Given the description of an element on the screen output the (x, y) to click on. 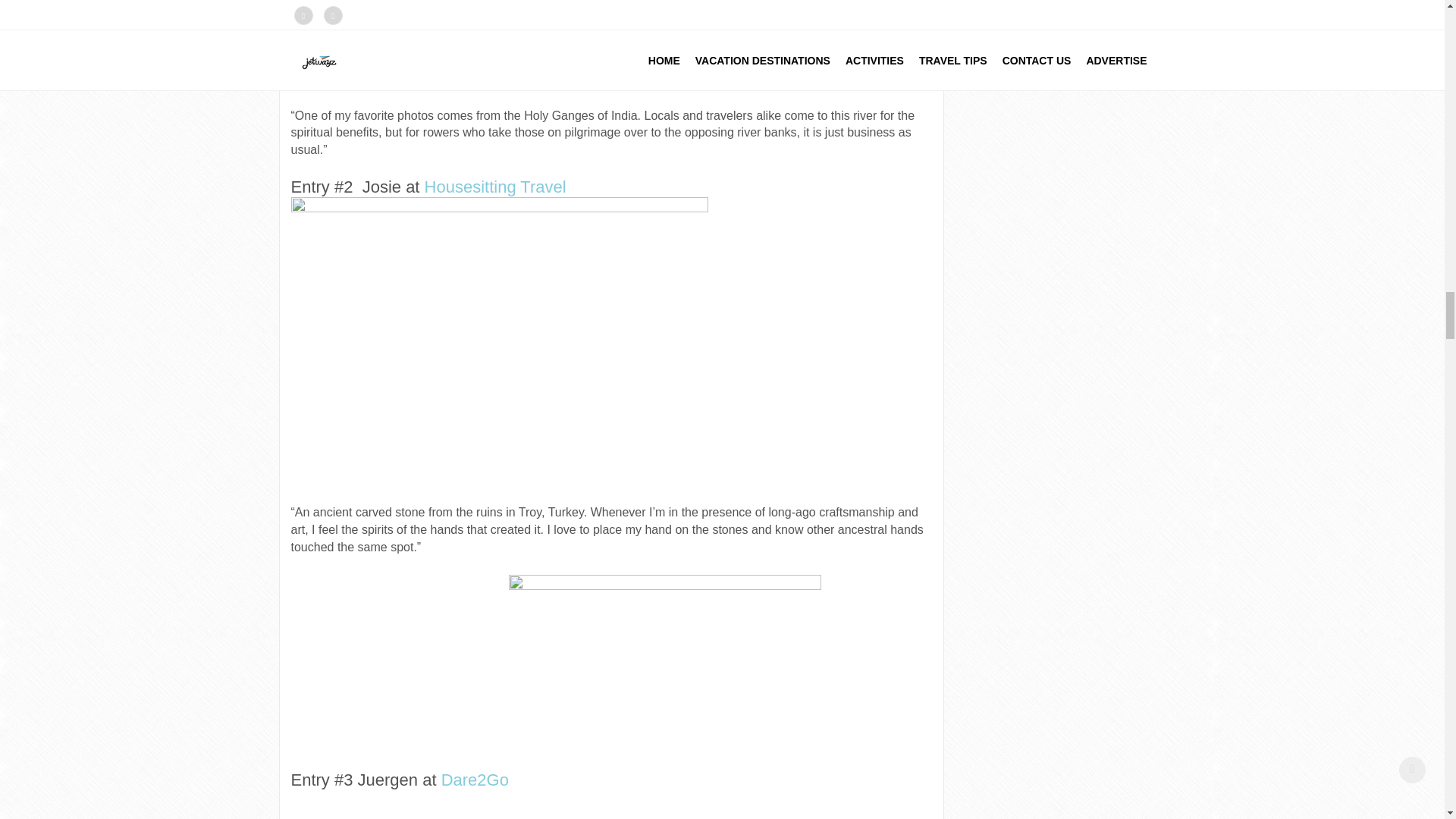
Jermey Entry (499, 53)
Entry 3 (664, 696)
Housesitting Travel (495, 186)
Dare2Go (474, 779)
